Given the description of an element on the screen output the (x, y) to click on. 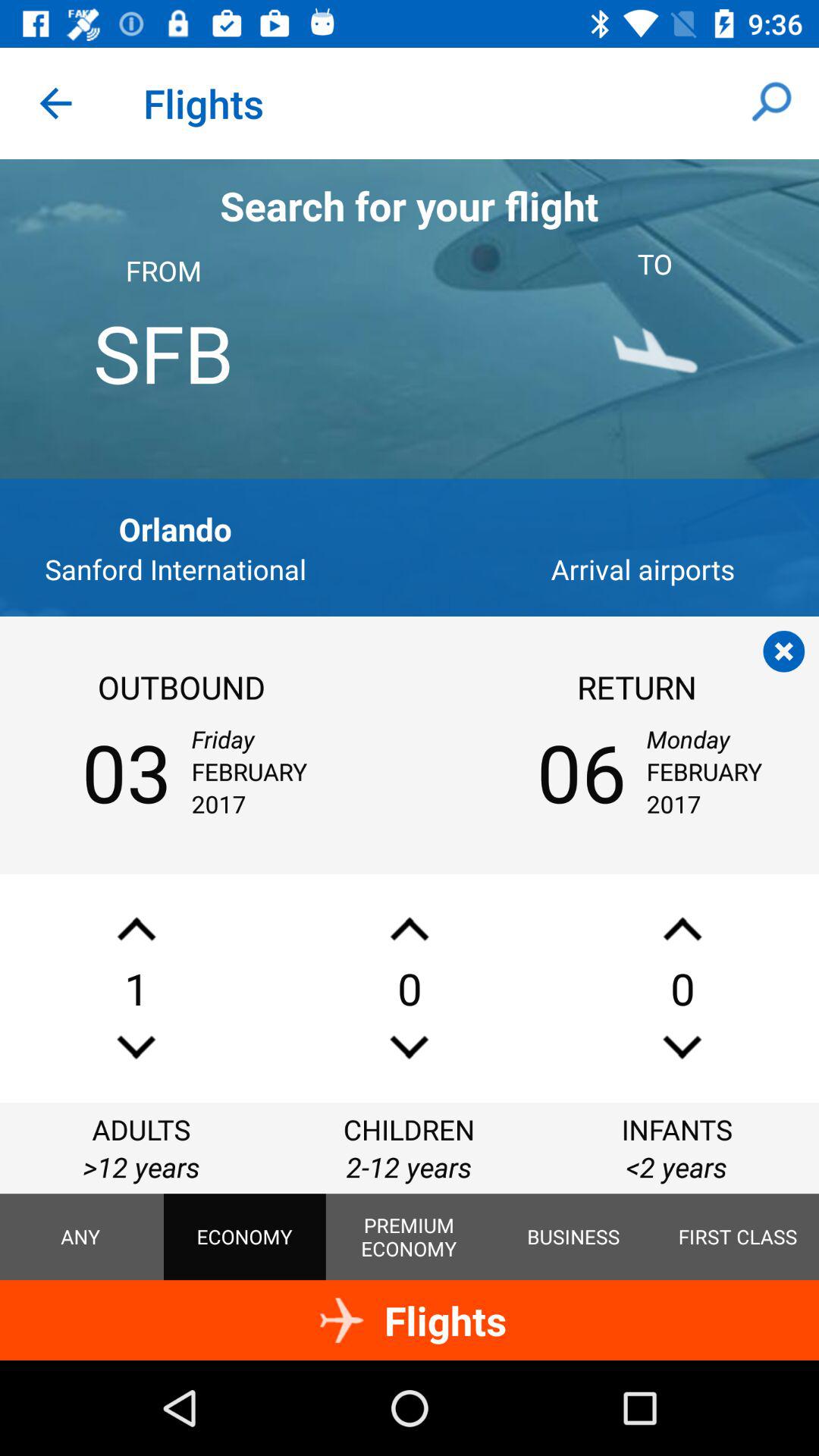
close/cancel (784, 651)
